Given the description of an element on the screen output the (x, y) to click on. 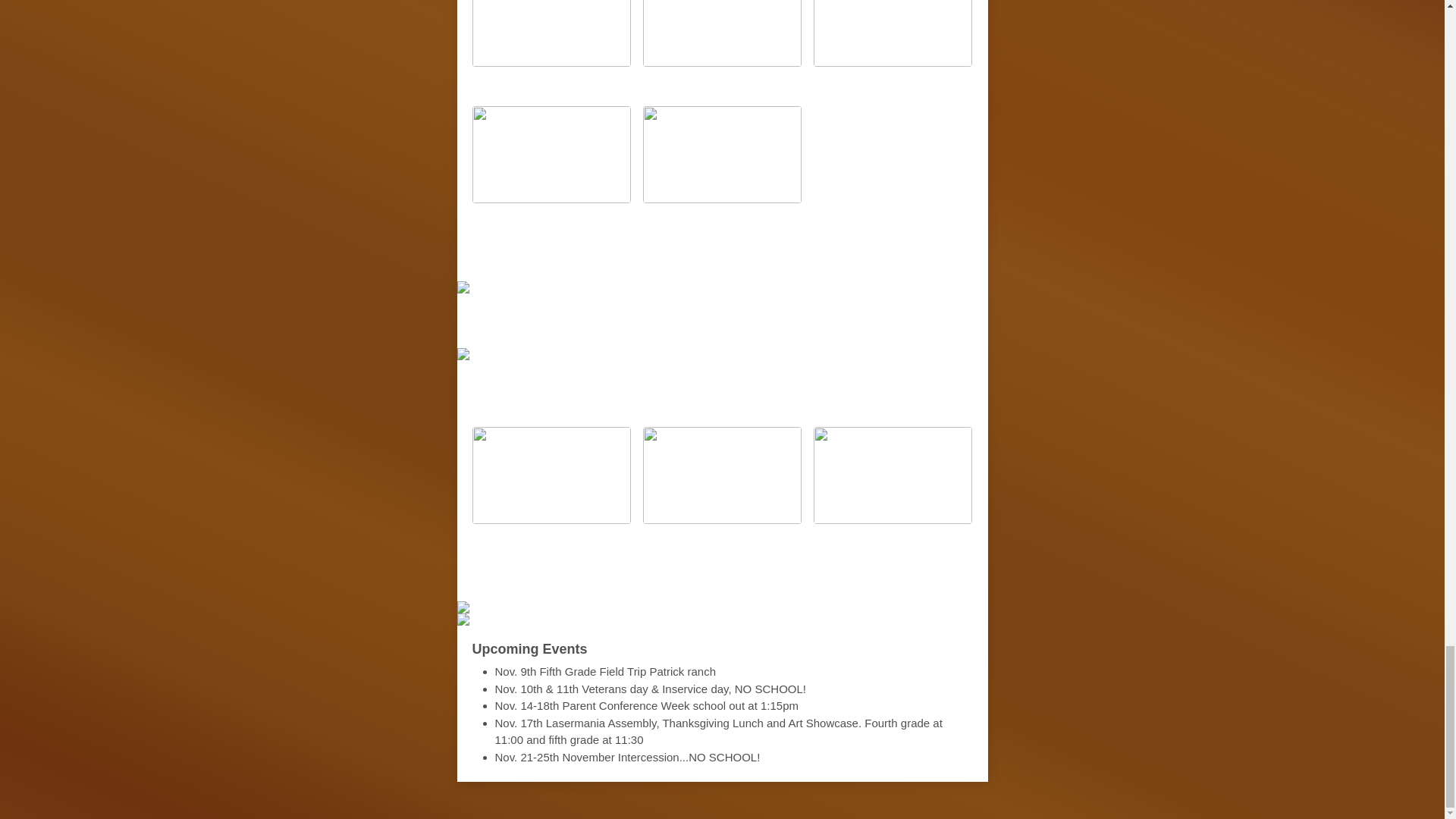
Fifth (641, 254)
Roundup (778, 254)
Judge (603, 320)
Grade (697, 254)
Ms. (717, 320)
visted (667, 320)
Zarzynski (782, 320)
